Given the description of an element on the screen output the (x, y) to click on. 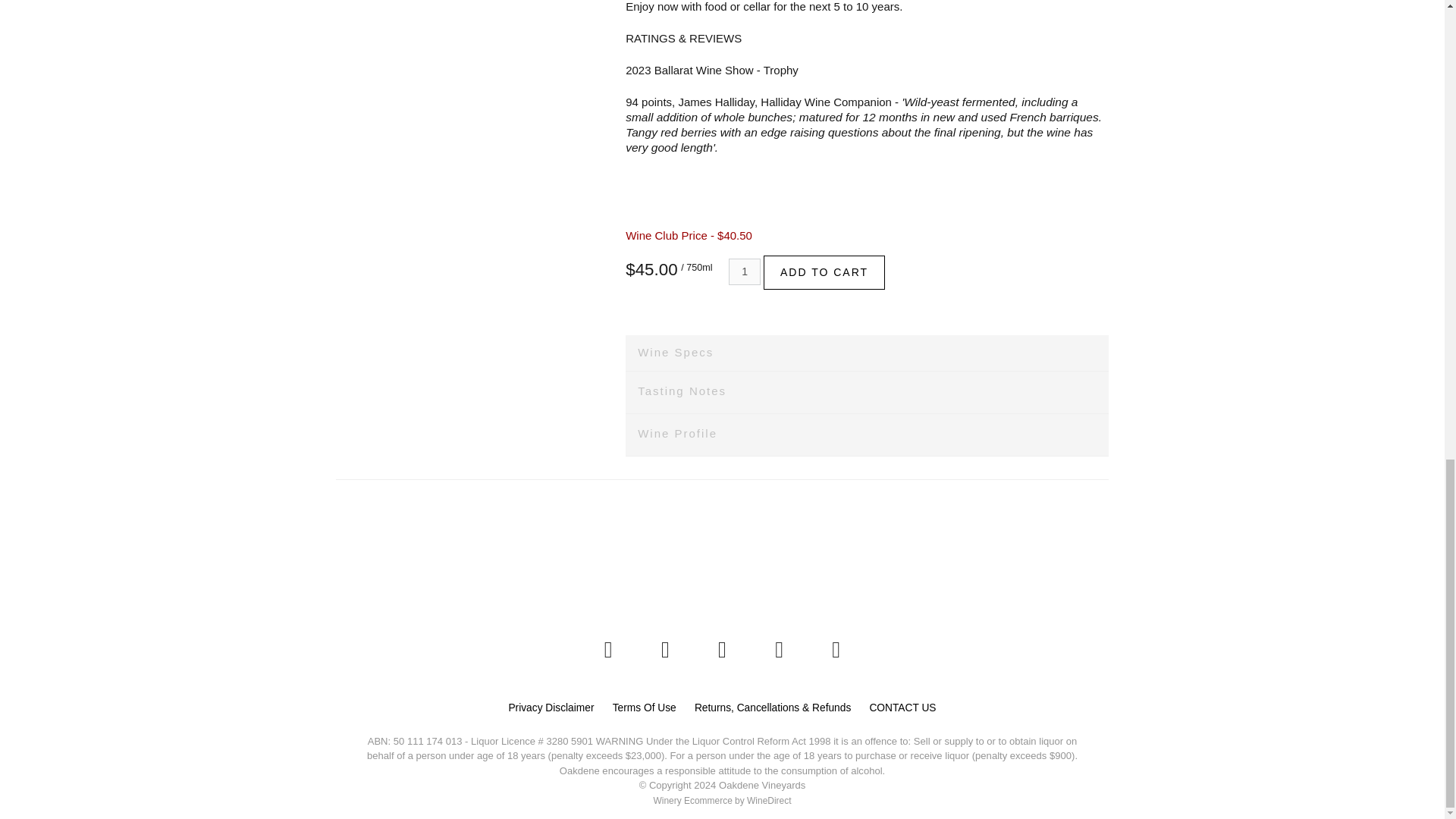
Terms Of Use (644, 708)
Wine Profile (867, 435)
Privacy Disclaimer (551, 708)
1 (744, 271)
ADD TO CART (823, 272)
94 points, James Halliday, Halliday Wine Companion (758, 101)
Tasting Notes (867, 392)
Wine Specs (867, 352)
